Given the description of an element on the screen output the (x, y) to click on. 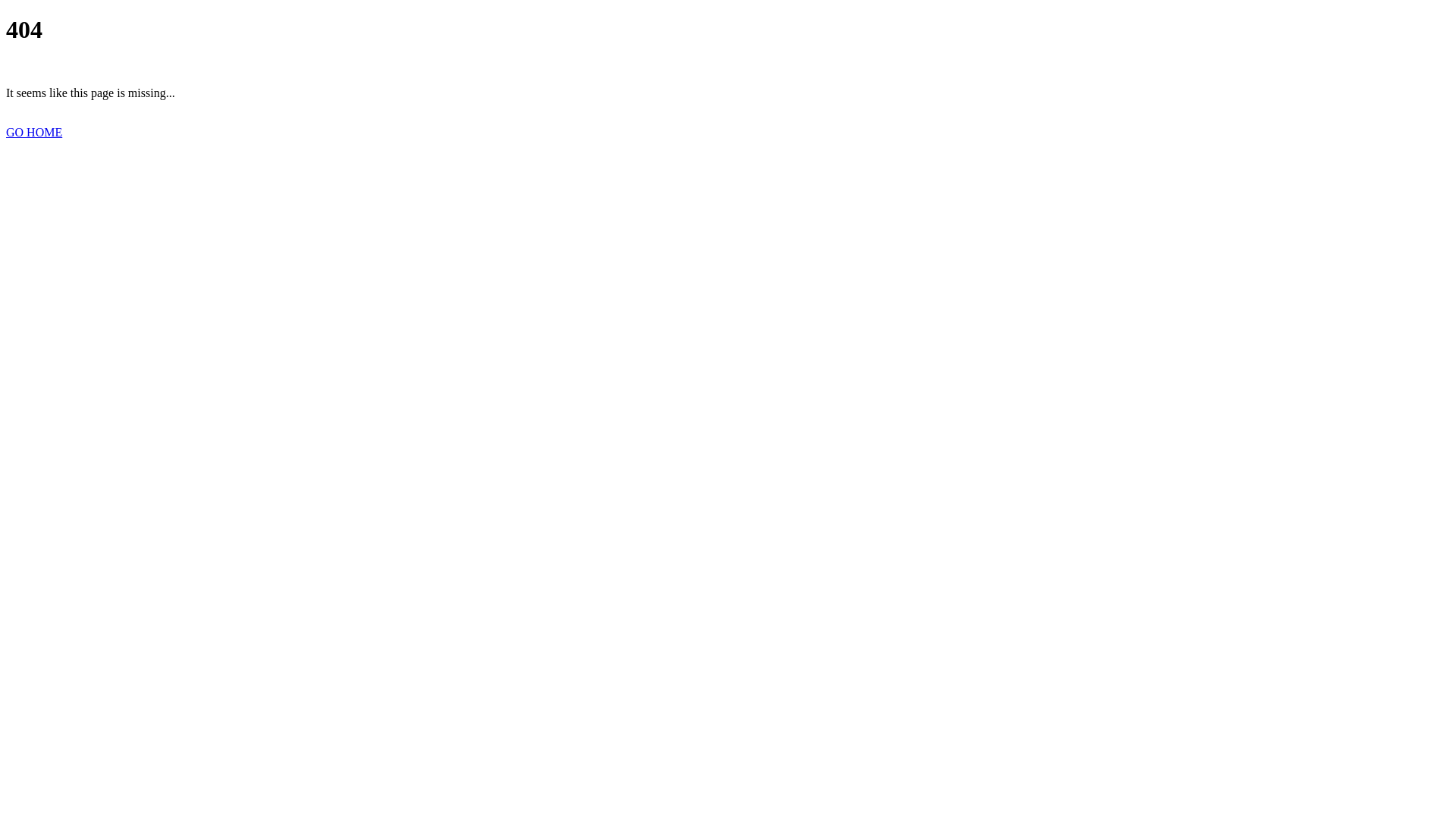
GO HOME Element type: text (34, 131)
